Given the description of an element on the screen output the (x, y) to click on. 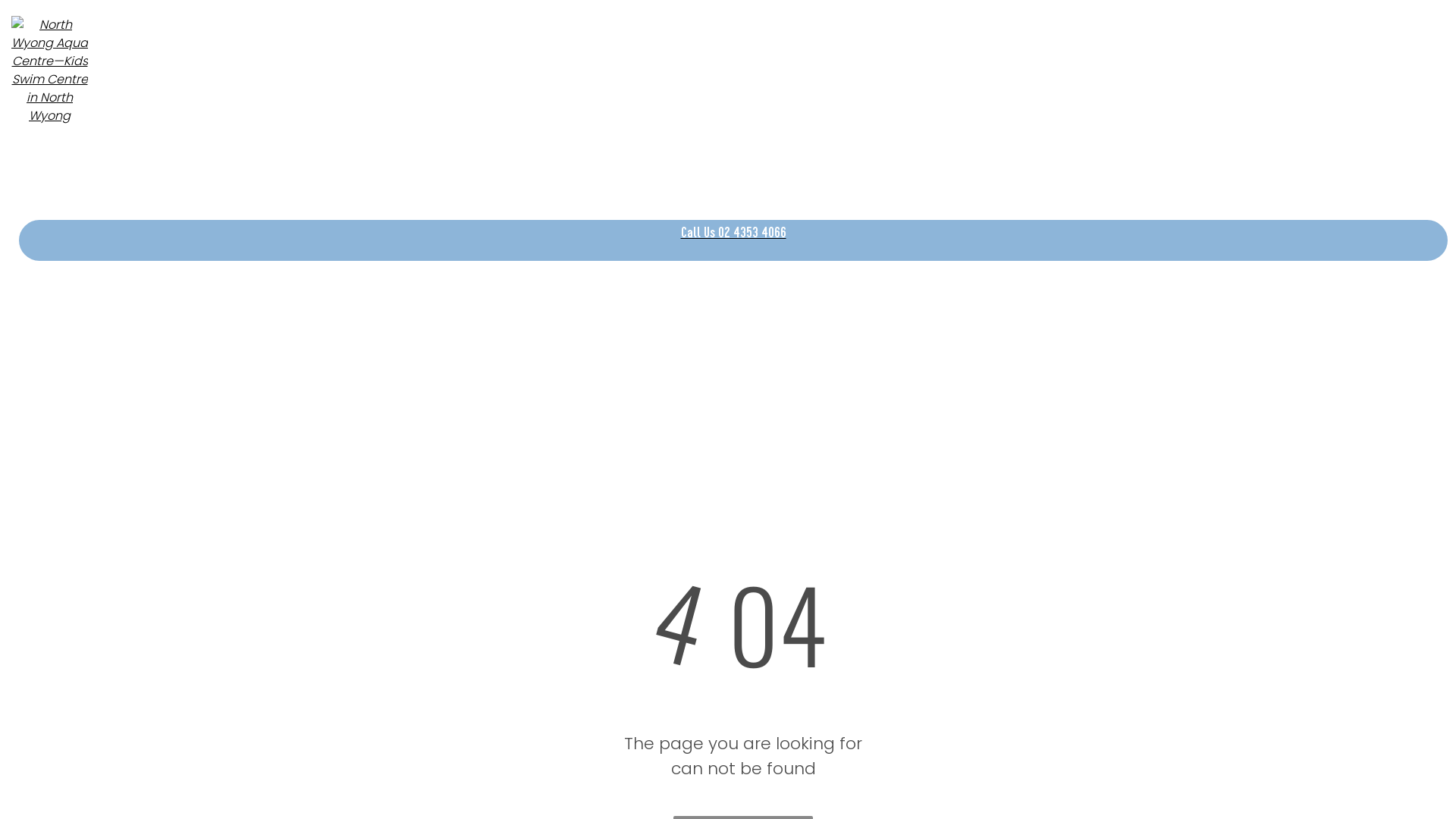
CONTACT US Element type: text (915, 169)
CUSTOMER LOGIN Element type: text (809, 169)
PRICING Element type: text (647, 169)
OUR PROGRAMS Element type: text (560, 169)
POLICIES Element type: text (716, 169)
Call Us 02 4353 4066 Element type: text (732, 239)
